Given the description of an element on the screen output the (x, y) to click on. 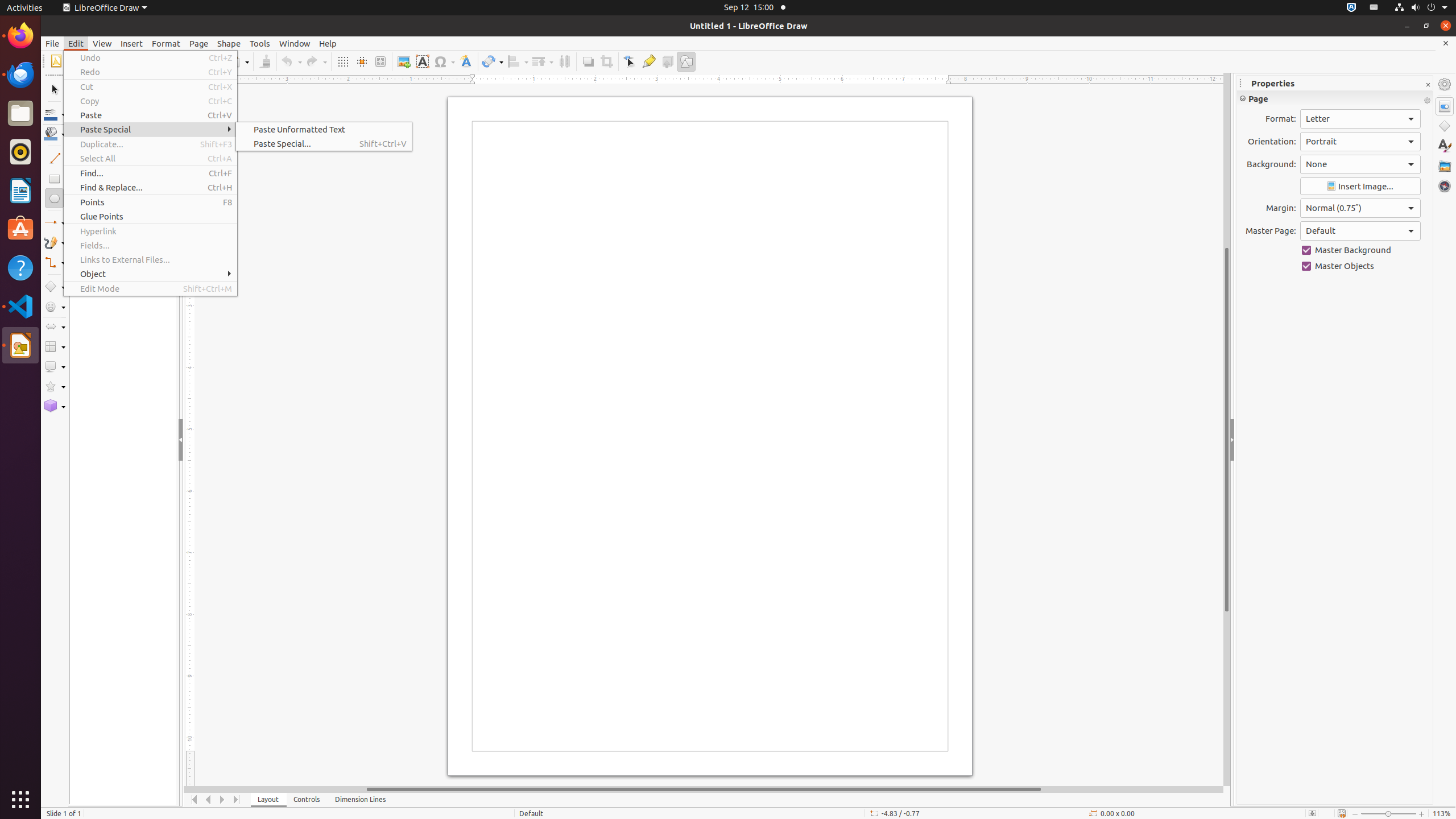
Rhythmbox Element type: push-button (20, 151)
Ubuntu Software Element type: push-button (20, 229)
Text Box Element type: push-button (421, 61)
Hyperlink Element type: menu-item (150, 231)
